Given the description of an element on the screen output the (x, y) to click on. 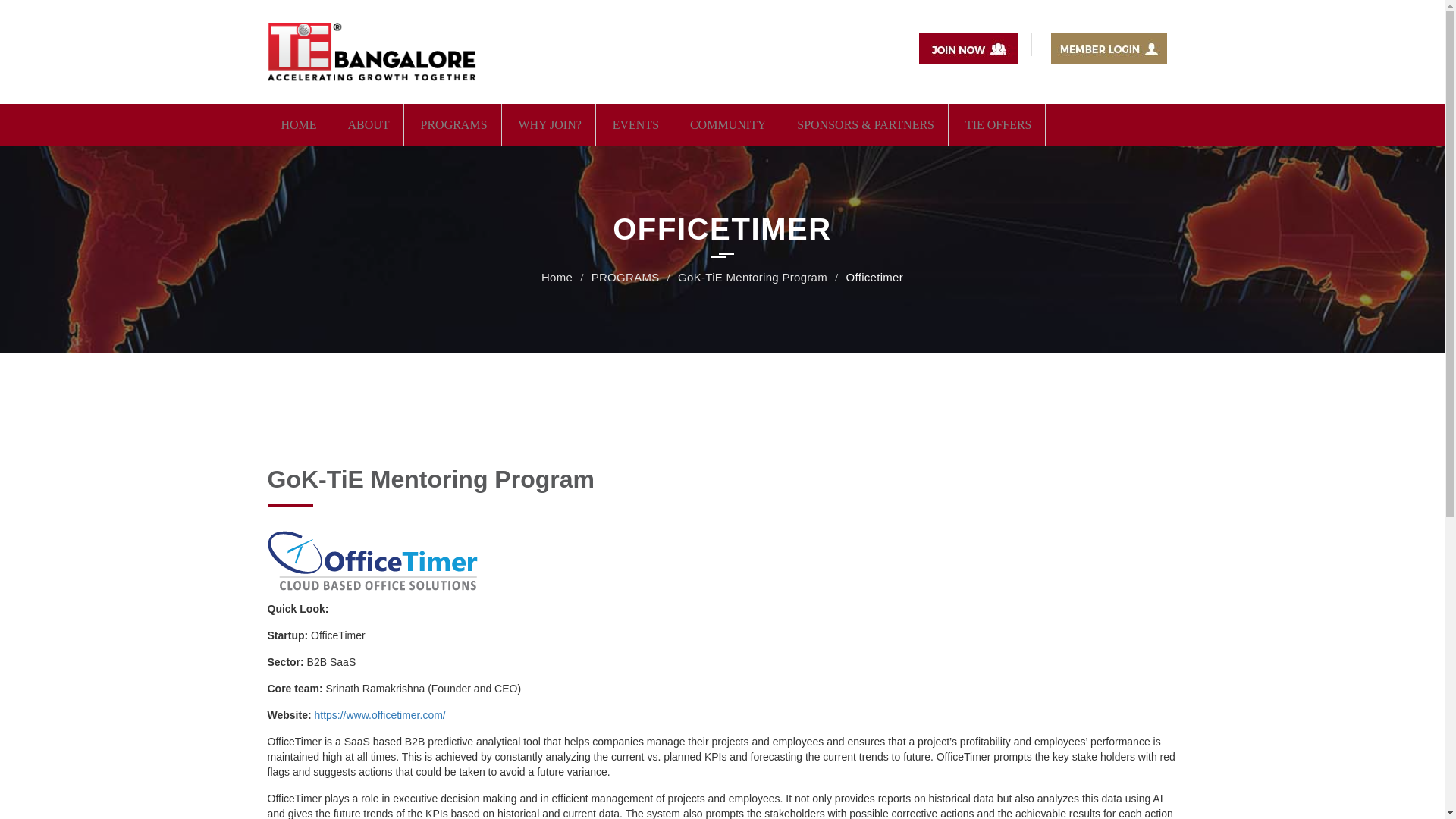
TIE OFFERS (998, 124)
EVENTS (635, 124)
GoK-TiE Mentoring Program (752, 277)
WHY JOIN? (549, 124)
ABOUT (367, 124)
COMMUNITY (727, 124)
PROGRAMS (625, 277)
PROGRAMS (453, 124)
